Given the description of an element on the screen output the (x, y) to click on. 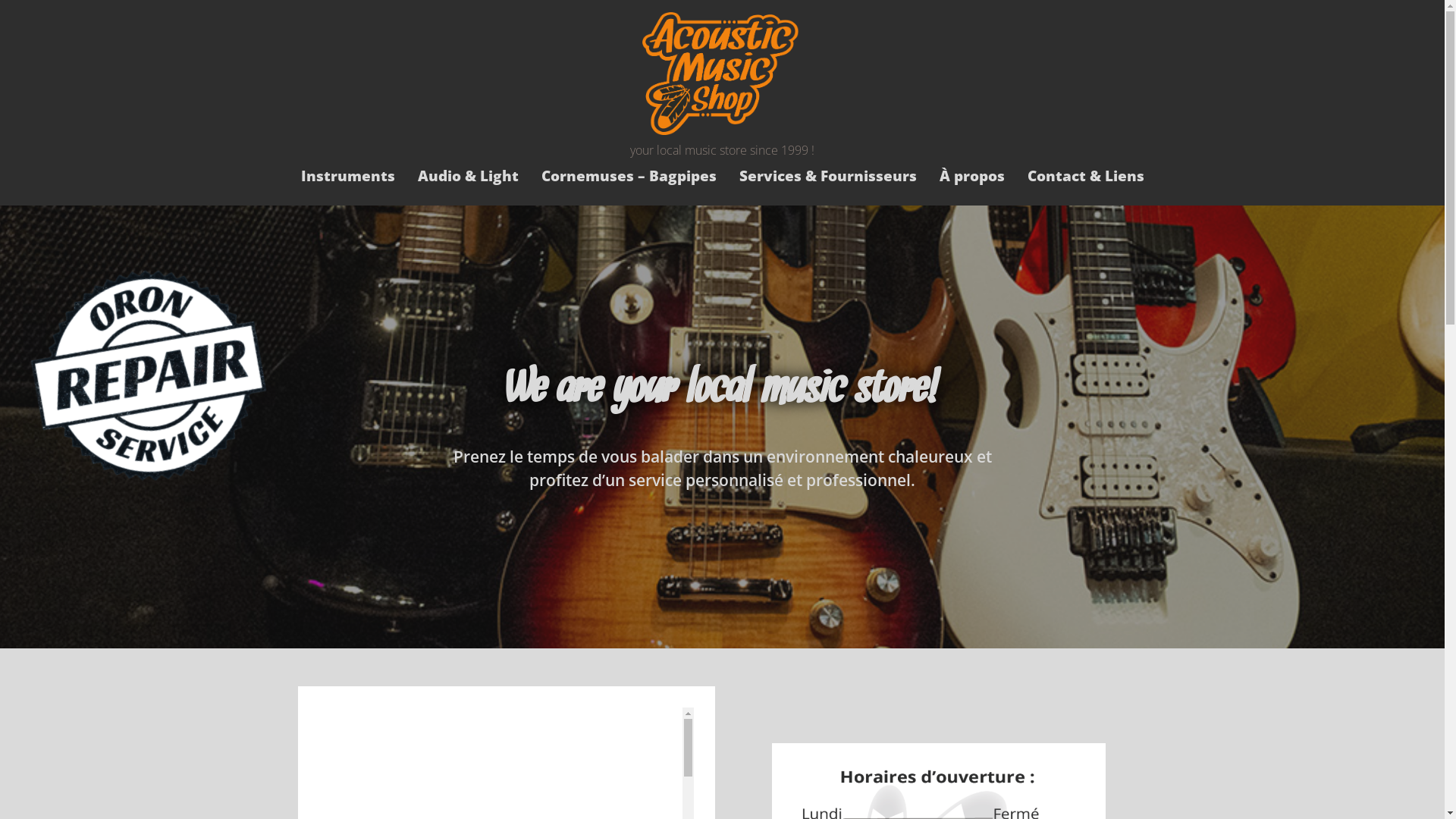
Instruments Element type: text (347, 176)
Audio & Light Element type: text (468, 176)
Contact & Liens Element type: text (1085, 176)
Instruments Element type: text (722, 231)
Services & Fournisseurs Element type: text (828, 176)
